Given the description of an element on the screen output the (x, y) to click on. 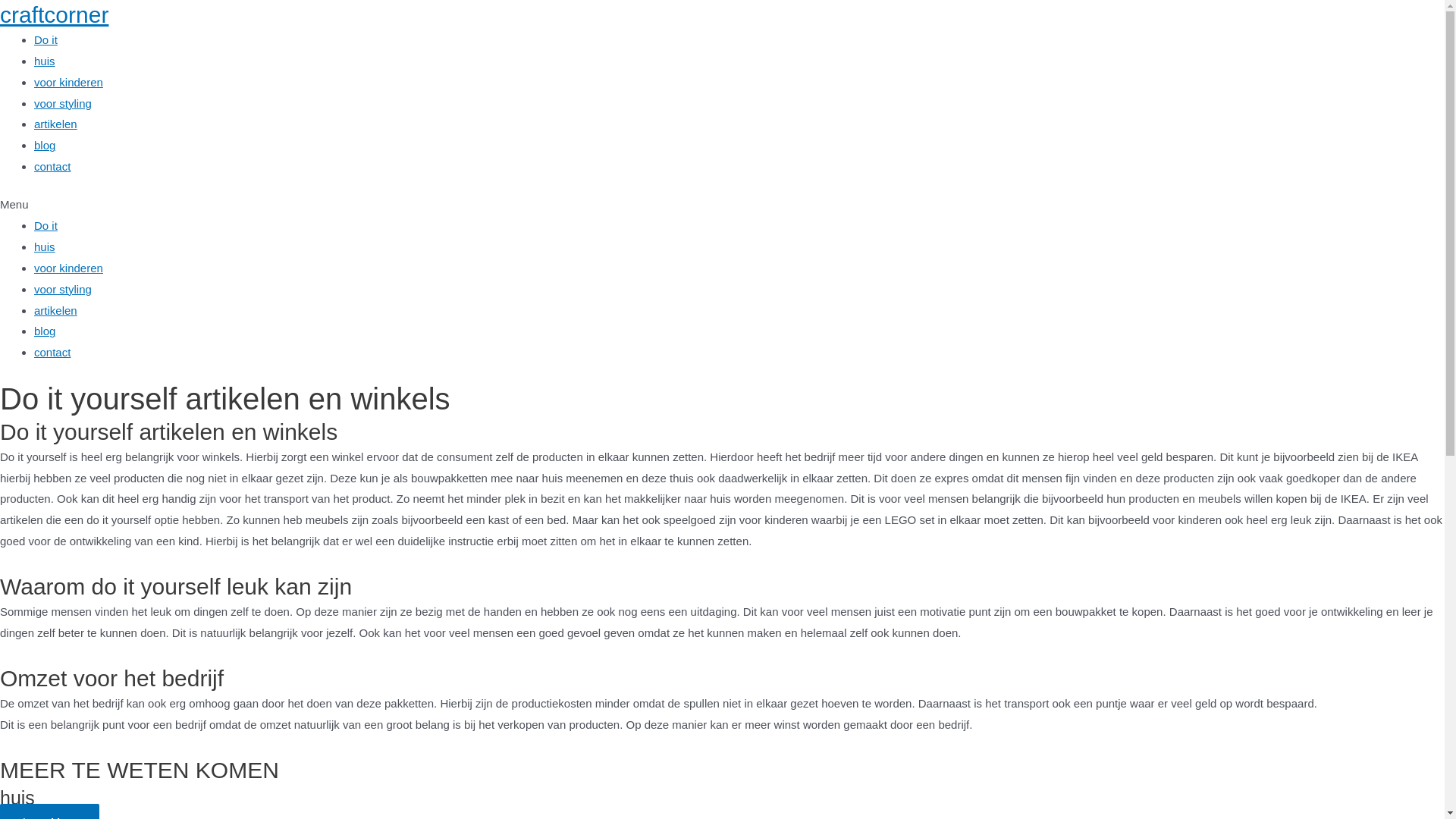
artikelen Element type: text (55, 123)
voor styling Element type: text (62, 103)
artikelen Element type: text (55, 310)
contact Element type: text (52, 166)
voor kinderen Element type: text (68, 81)
voor styling Element type: text (62, 288)
blog Element type: text (44, 330)
huis Element type: text (44, 246)
Do it Element type: text (45, 225)
craftcorner Element type: text (54, 14)
blog Element type: text (44, 144)
voor kinderen Element type: text (68, 267)
huis Element type: text (44, 60)
Do it Element type: text (45, 39)
contact Element type: text (52, 351)
